Given the description of an element on the screen output the (x, y) to click on. 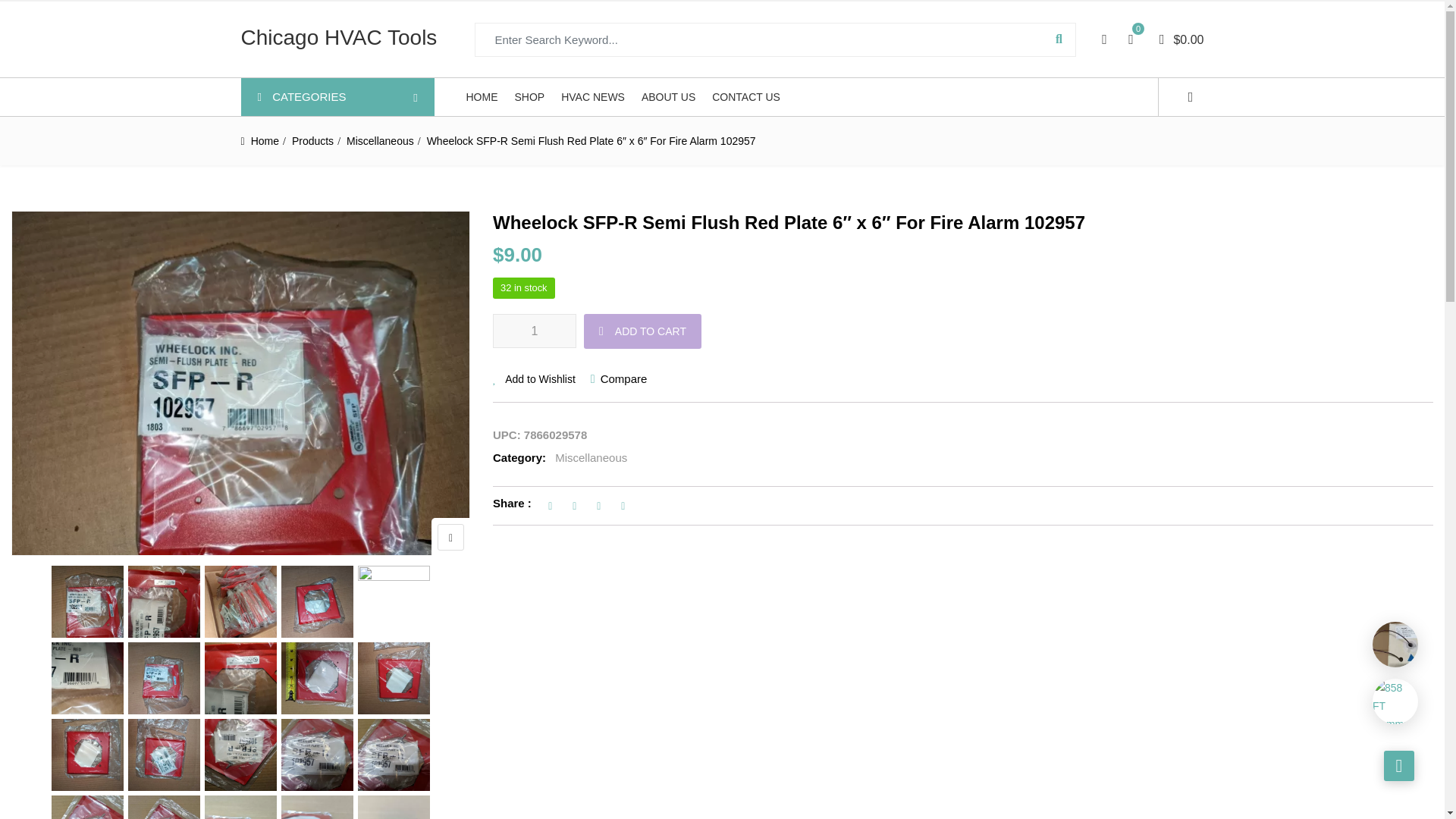
HOME (481, 96)
Home (264, 141)
HVAC NEWS (592, 96)
Products (312, 141)
Products (312, 141)
1 (534, 330)
CONTACT US (745, 96)
Chicago HVAC Tools (339, 40)
Miscellaneous (379, 141)
ABOUT US (668, 96)
